Given the description of an element on the screen output the (x, y) to click on. 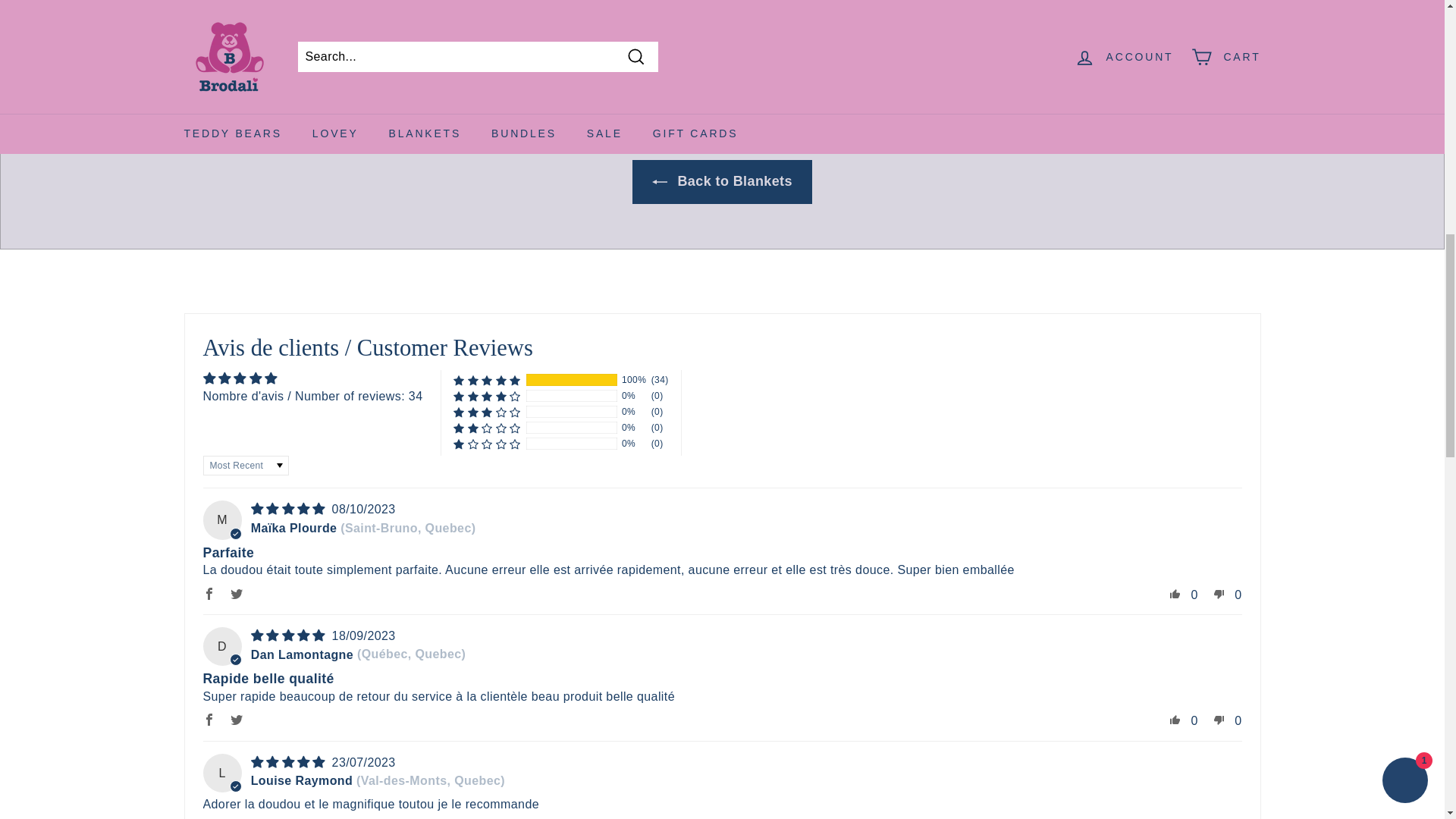
Facebook (208, 817)
down (1219, 719)
Facebook (208, 719)
up (1175, 817)
up (1175, 719)
down (1219, 593)
up (1175, 593)
Twitter (236, 719)
Twitter (236, 593)
Facebook (208, 593)
down (1219, 817)
Twitter (236, 817)
